Given the description of an element on the screen output the (x, y) to click on. 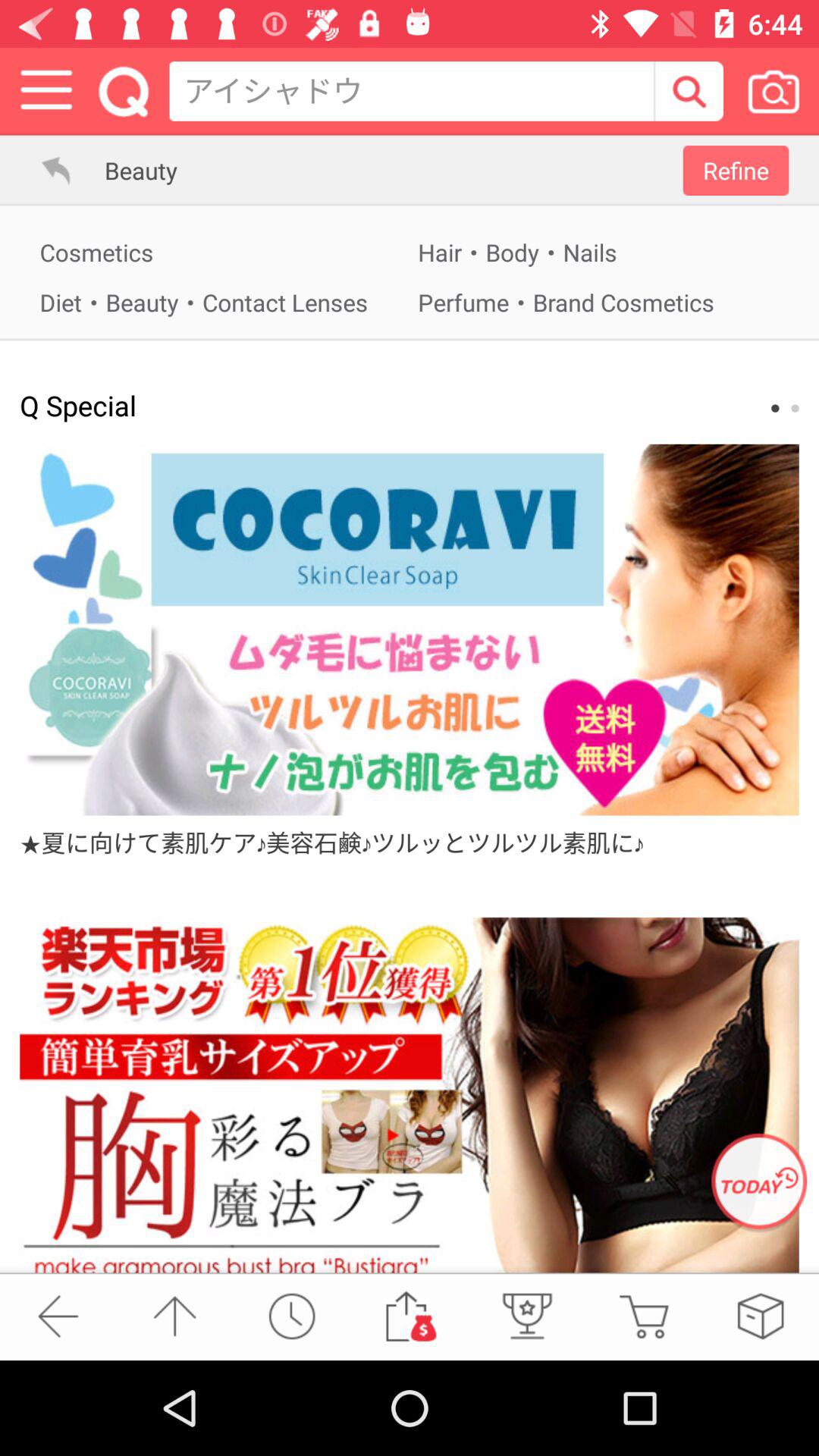
open advertisement (409, 1094)
